Given the description of an element on the screen output the (x, y) to click on. 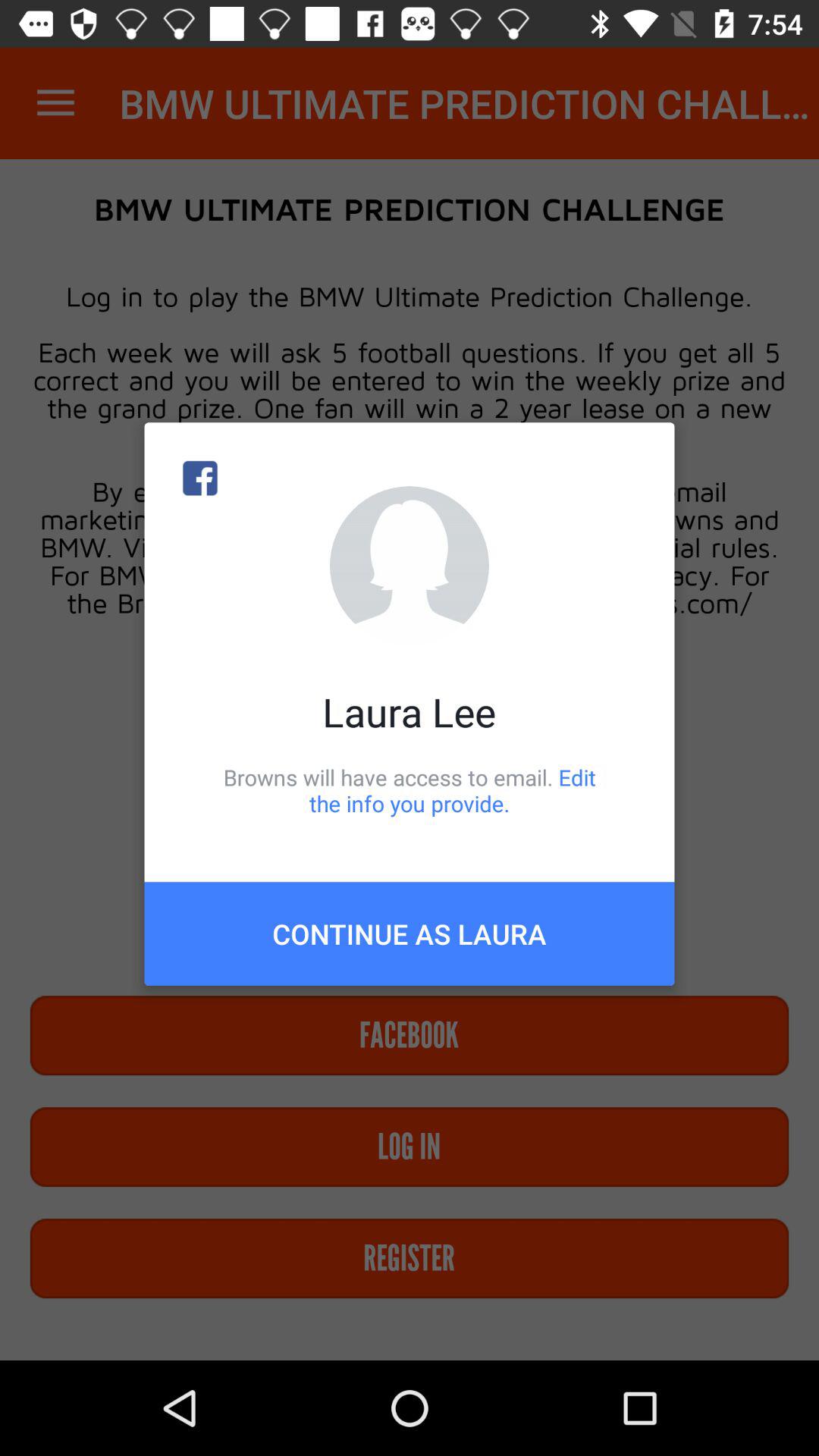
launch continue as laura (409, 933)
